Given the description of an element on the screen output the (x, y) to click on. 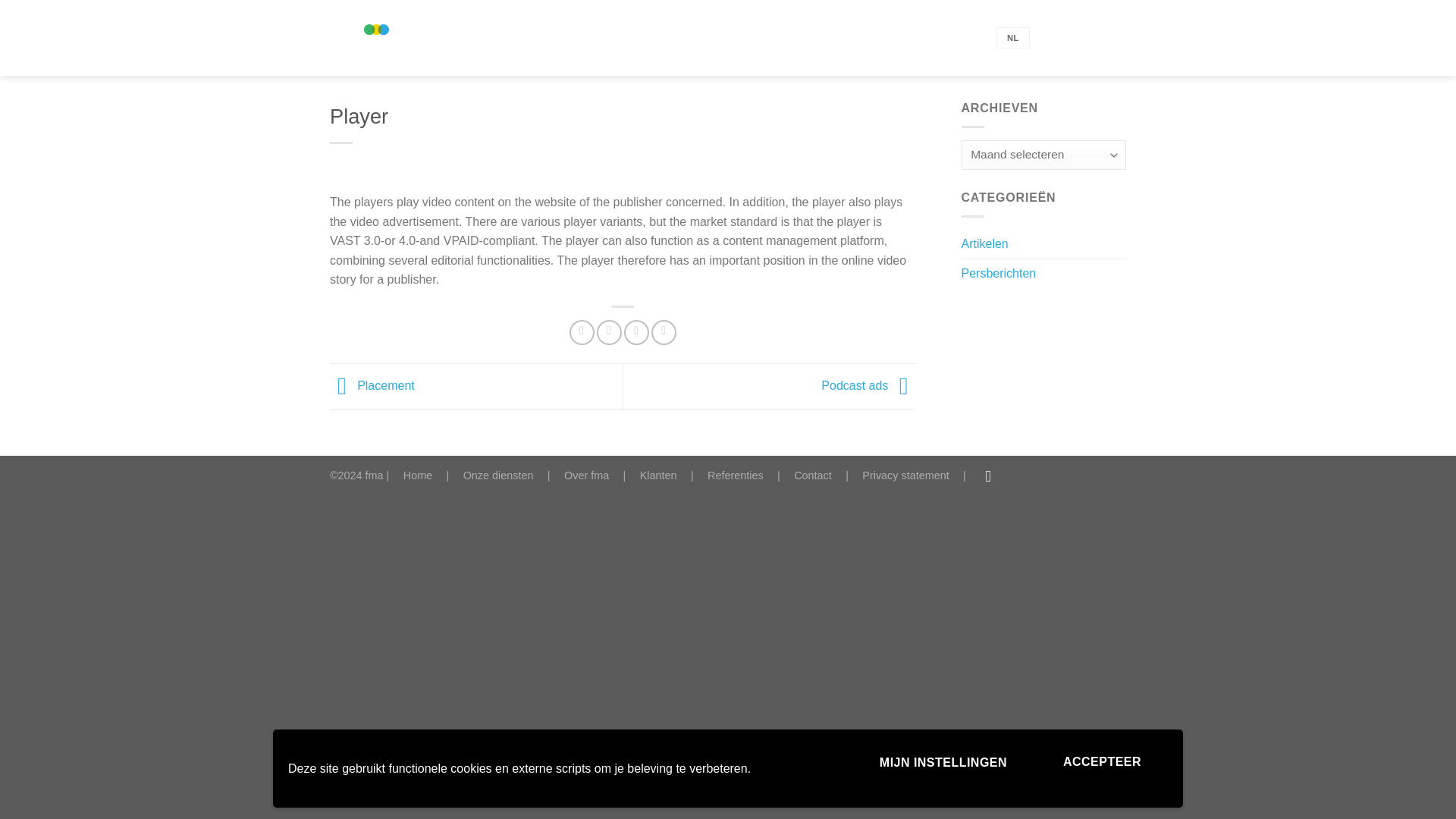
Over fma (586, 475)
Podcast ads (868, 385)
Stuur door naar een vriend (636, 332)
Deel op LinkedIn (663, 332)
Placement (372, 385)
Deel op Facebook (581, 332)
Klanten (658, 475)
Referenties (734, 475)
Persberichten (998, 273)
Artikelen (984, 244)
Home (417, 475)
Deel op Twitter (608, 332)
NL (1012, 38)
Contact (812, 475)
Privacy statement (905, 475)
